Given the description of an element on the screen output the (x, y) to click on. 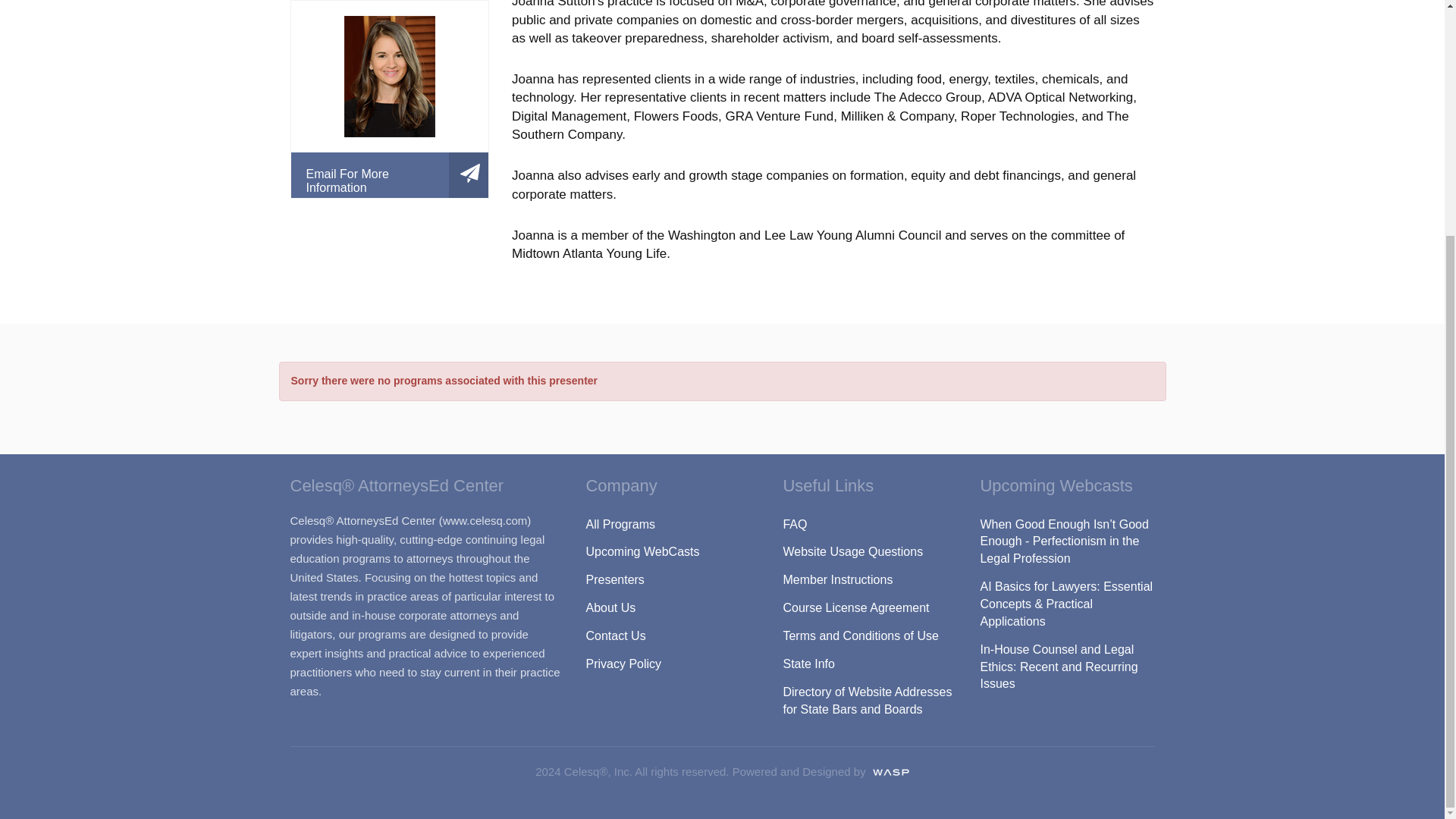
Upcoming WebCasts (672, 552)
Website Usage Questions (869, 552)
Privacy Policy (672, 664)
Course License Agreement (869, 608)
Presenters (672, 580)
About Us (672, 608)
Directory of Website Addresses for State Bars and Boards (869, 700)
Terms and Conditions of Use (869, 636)
Member Instructions (869, 580)
